Given the description of an element on the screen output the (x, y) to click on. 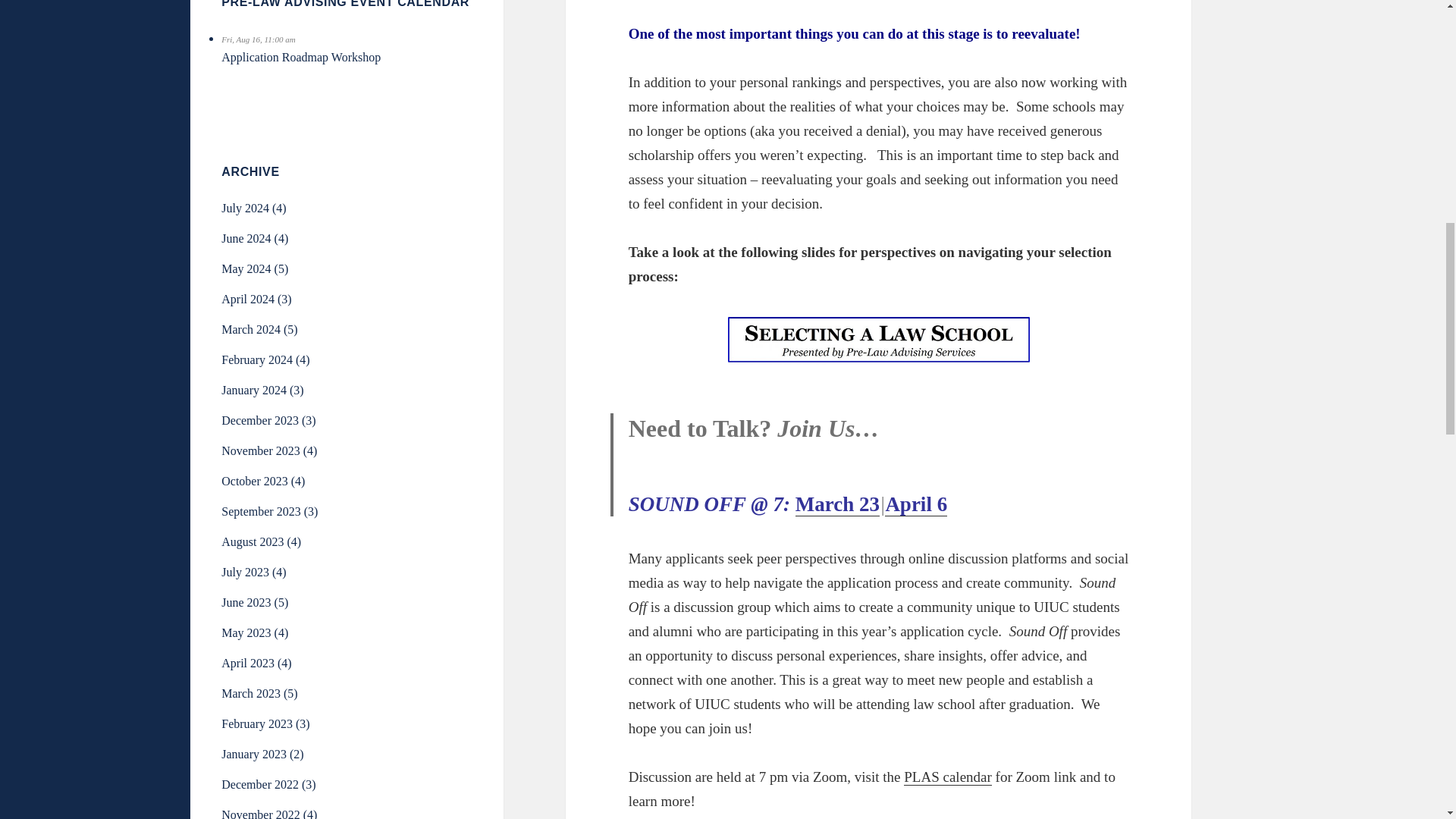
October 2023 (254, 481)
March 2024 (251, 328)
April 2023 (248, 662)
November 2022 (260, 813)
May 2024 (245, 268)
February 2024 (256, 359)
June 2023 (245, 602)
November 2023 (260, 450)
July 2024 (245, 207)
April 2024 (248, 298)
February 2023 (256, 723)
Application Roadmap Workshop (300, 56)
January 2024 (253, 390)
March 2023 (251, 693)
December 2022 (259, 784)
